Given the description of an element on the screen output the (x, y) to click on. 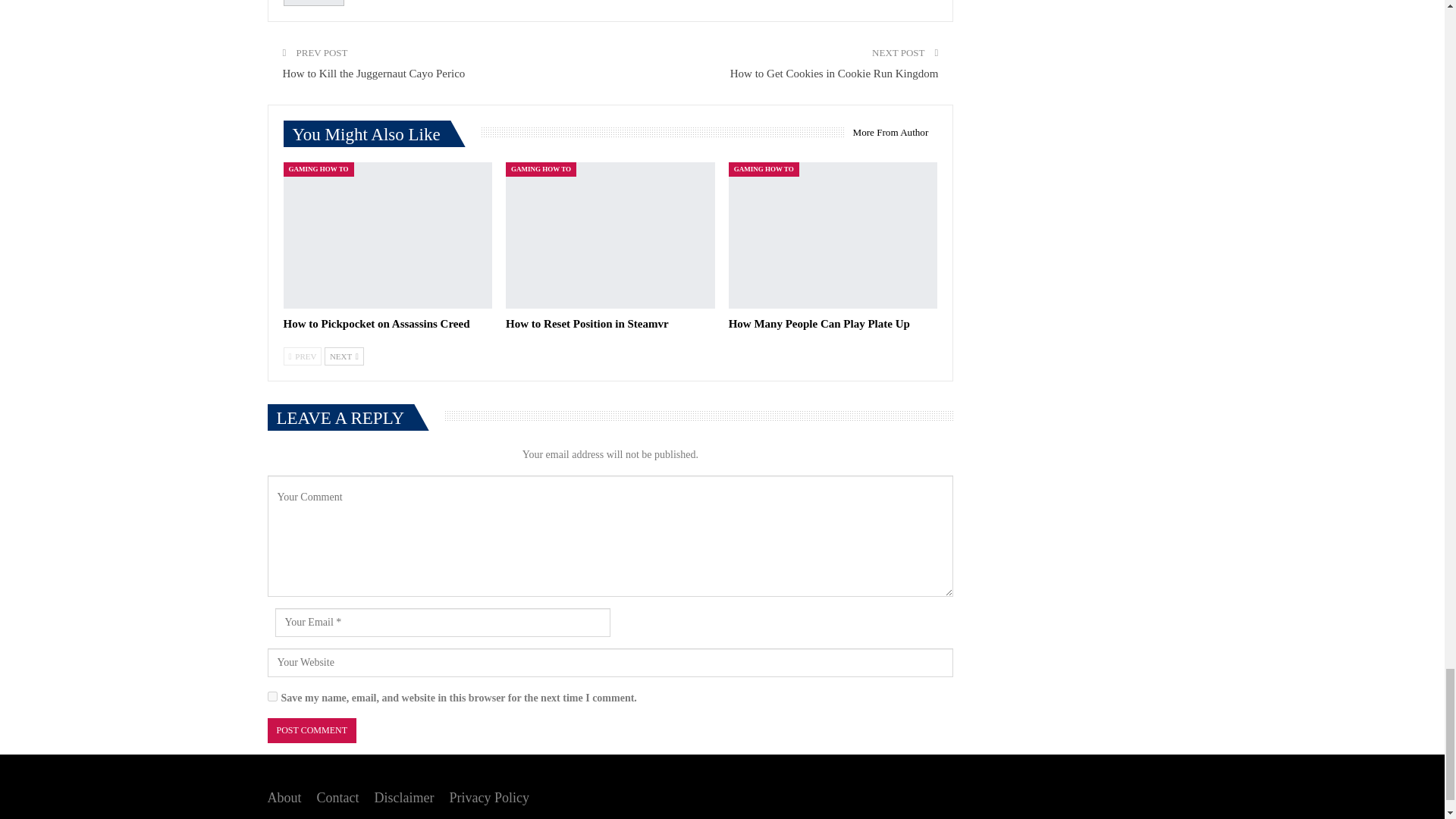
How to Pickpocket on Assassins Creed (376, 323)
How to Pickpocket on Assassins Creed (388, 235)
Post Comment (310, 730)
yes (271, 696)
